Given the description of an element on the screen output the (x, y) to click on. 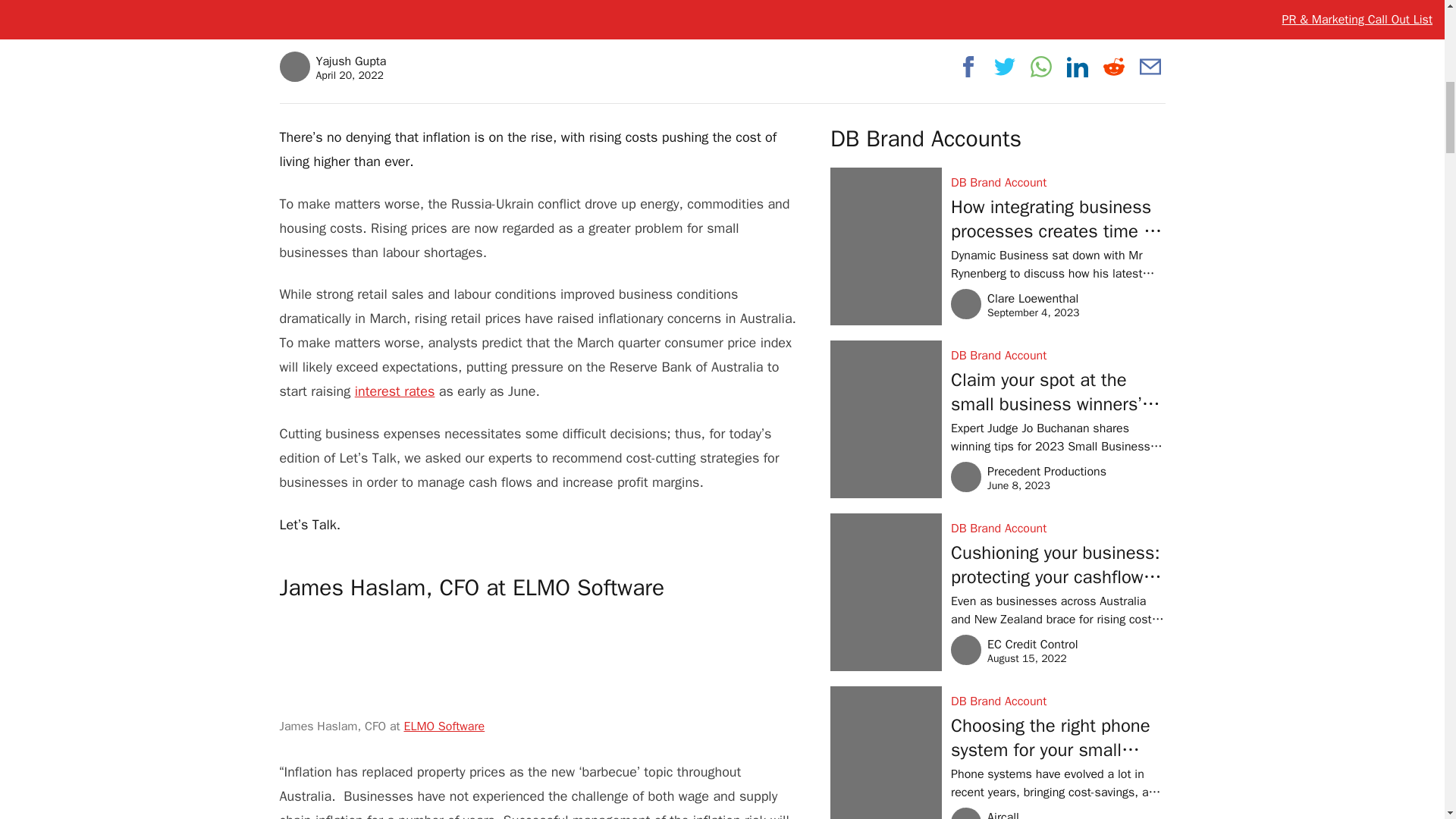
interest rates (332, 66)
ELMO Software (395, 391)
